Given the description of an element on the screen output the (x, y) to click on. 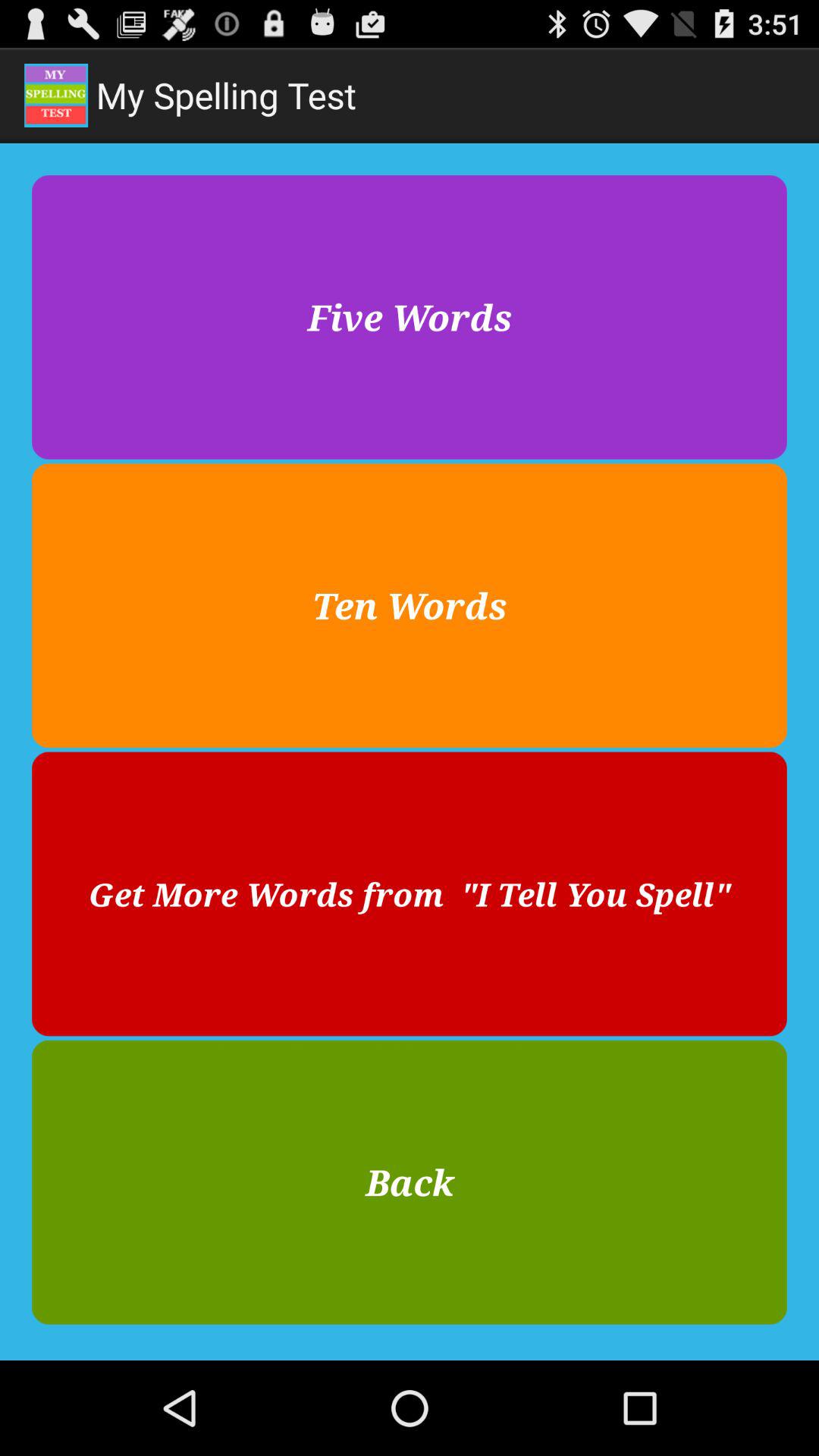
click the icon below the five words button (409, 605)
